Given the description of an element on the screen output the (x, y) to click on. 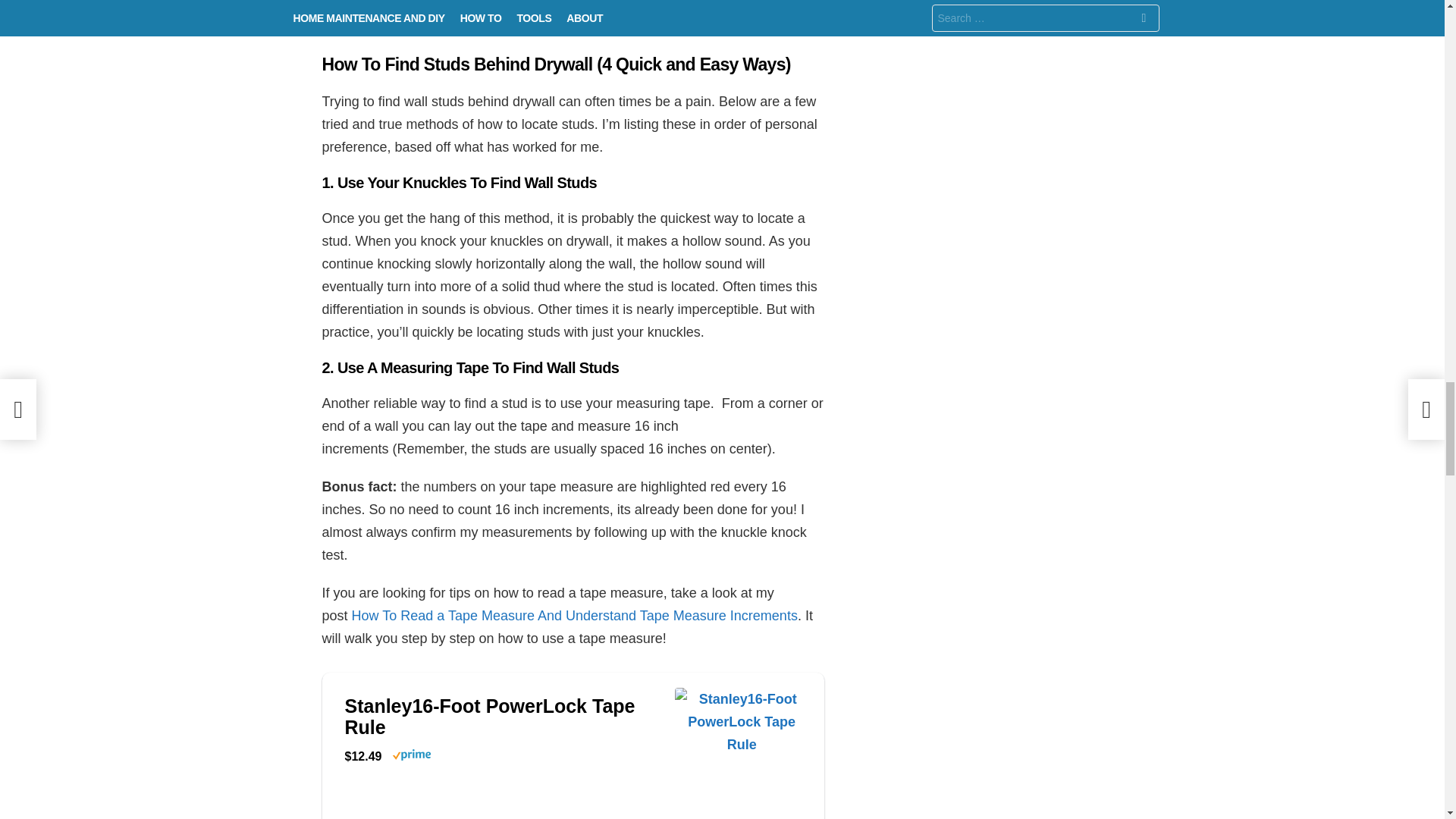
Stanley16-Foot PowerLock Tape Rule (742, 778)
Stanley16-Foot PowerLock Tape Rule (501, 716)
Stanley16-Foot PowerLock Tape Rule (501, 716)
